Given the description of an element on the screen output the (x, y) to click on. 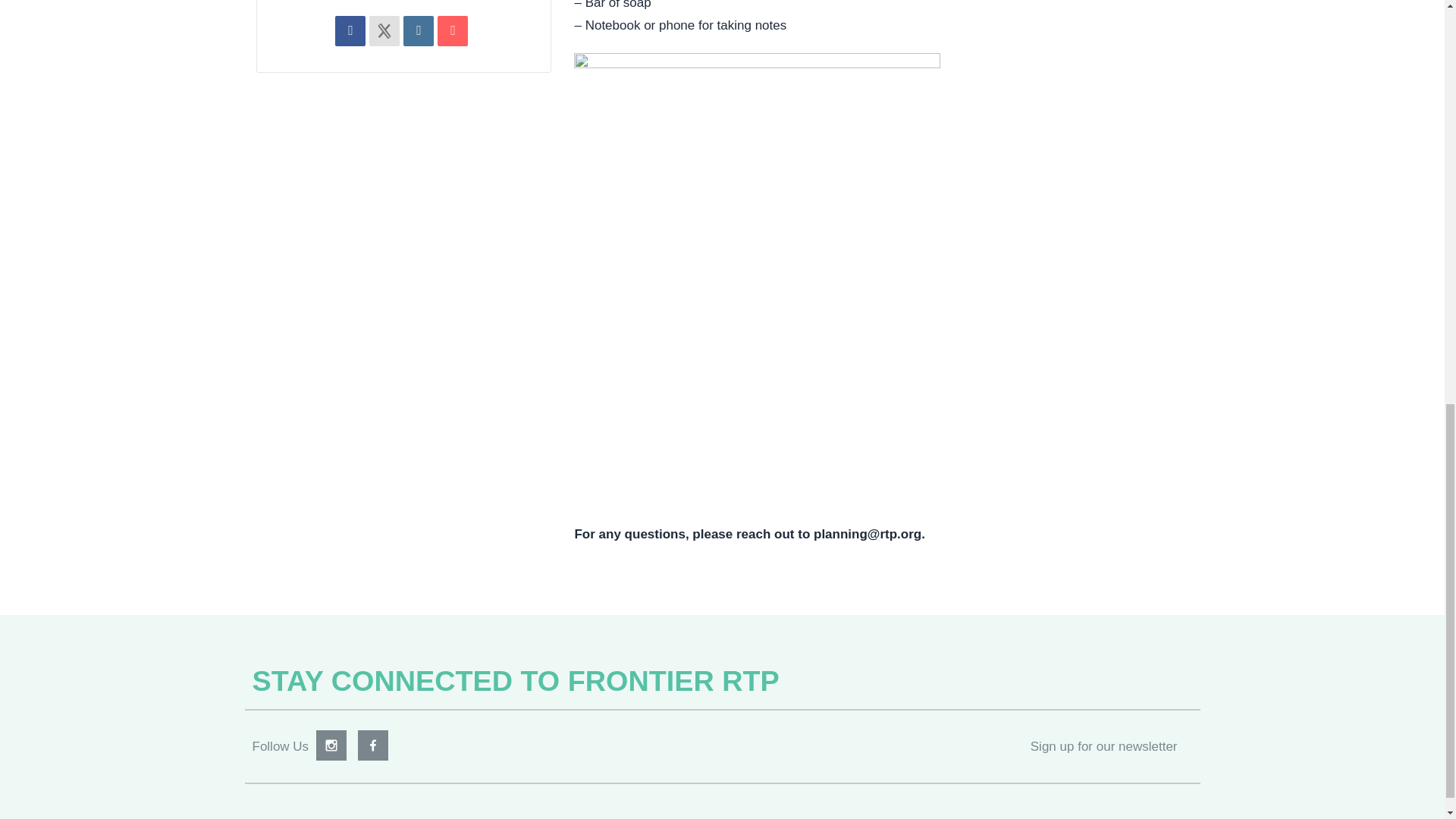
Facebook (373, 753)
Instagram (330, 753)
X Social Network (383, 37)
Linkedin (418, 37)
Share on Facebook (349, 37)
Email (452, 37)
